Given the description of an element on the screen output the (x, y) to click on. 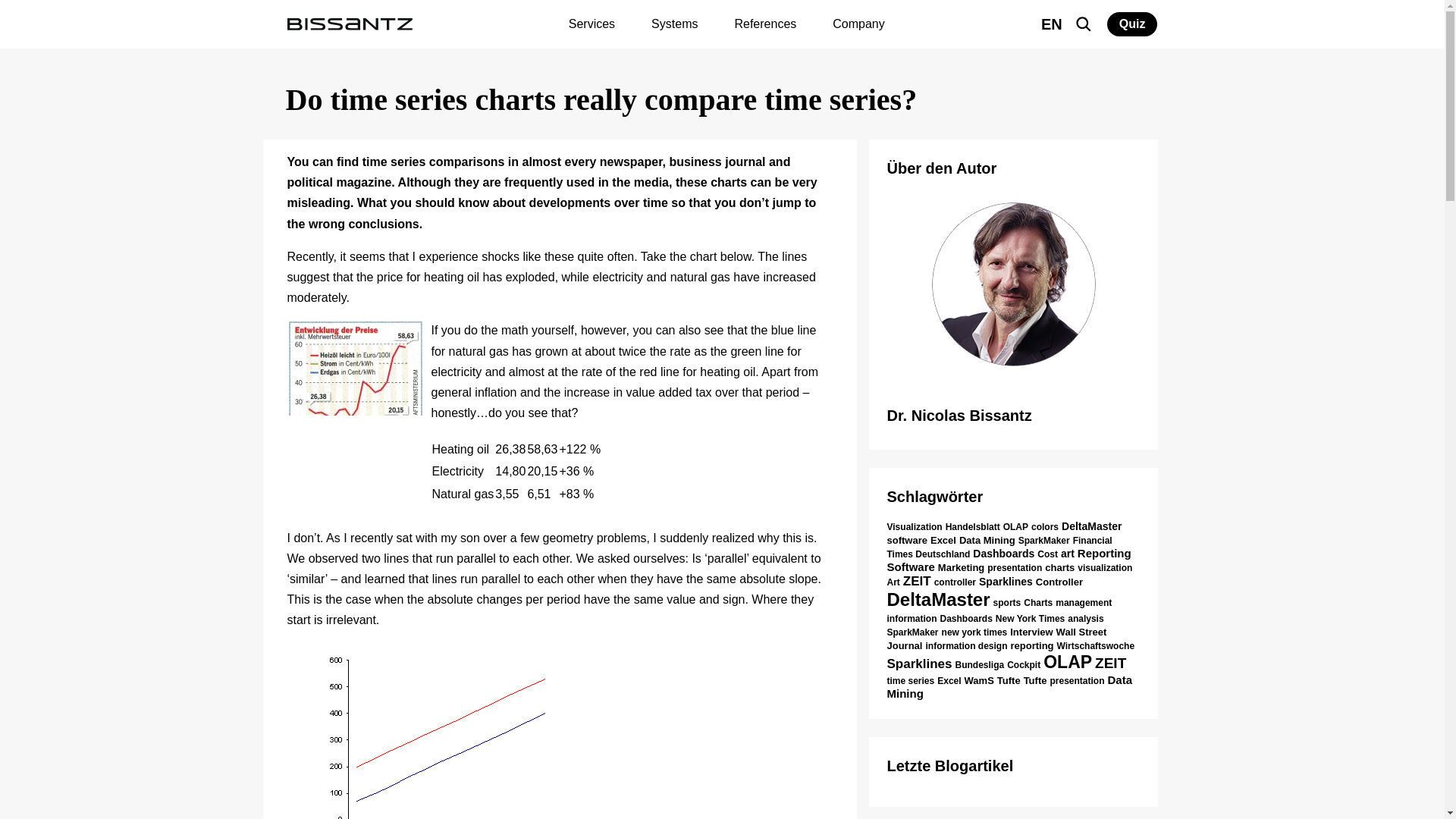
Systems (674, 24)
References (765, 24)
Services (591, 24)
Services (591, 24)
Systems (674, 24)
